Given the description of an element on the screen output the (x, y) to click on. 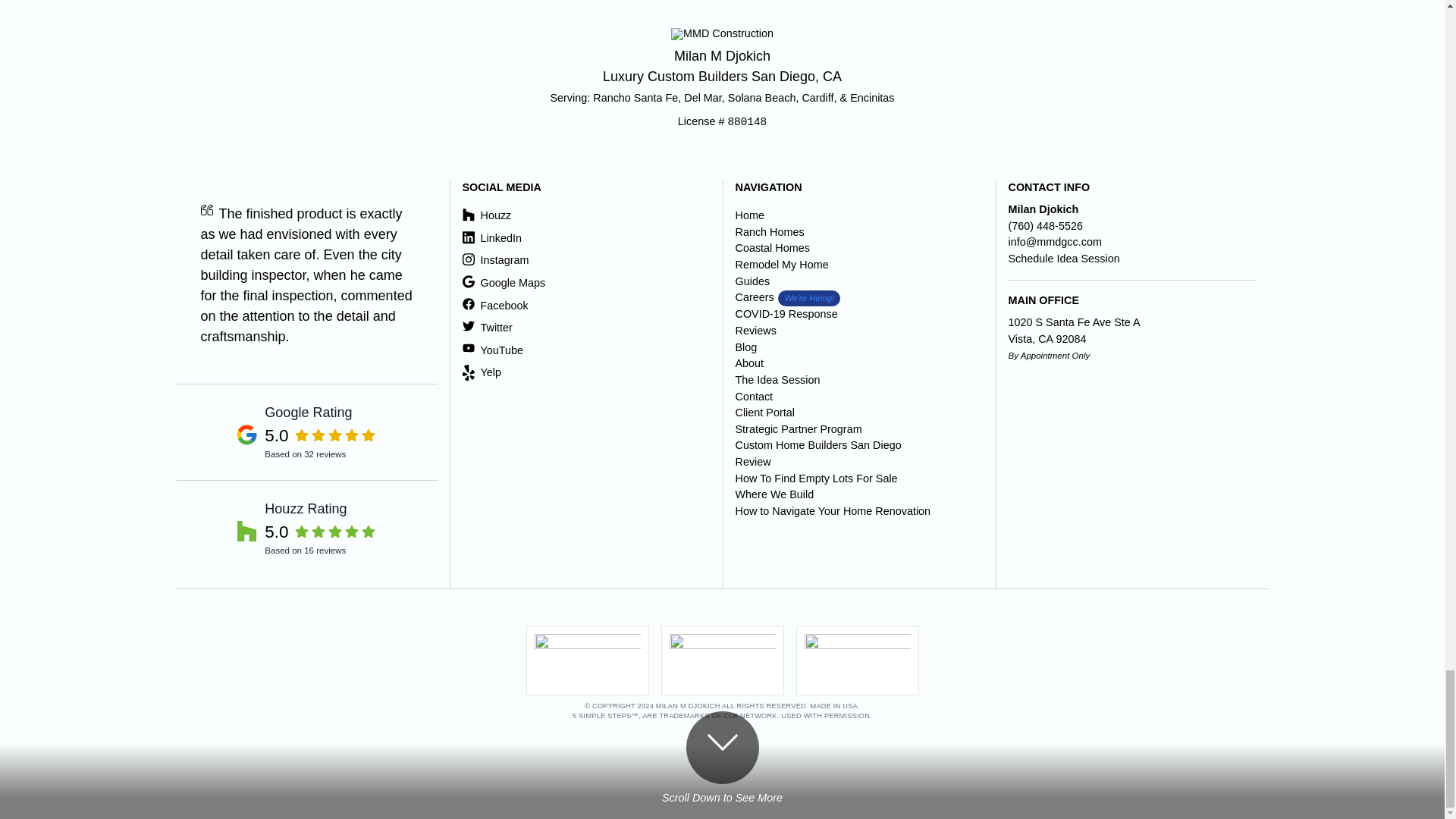
MMD Construction in Rancho Santa Fe (306, 431)
